Given the description of an element on the screen output the (x, y) to click on. 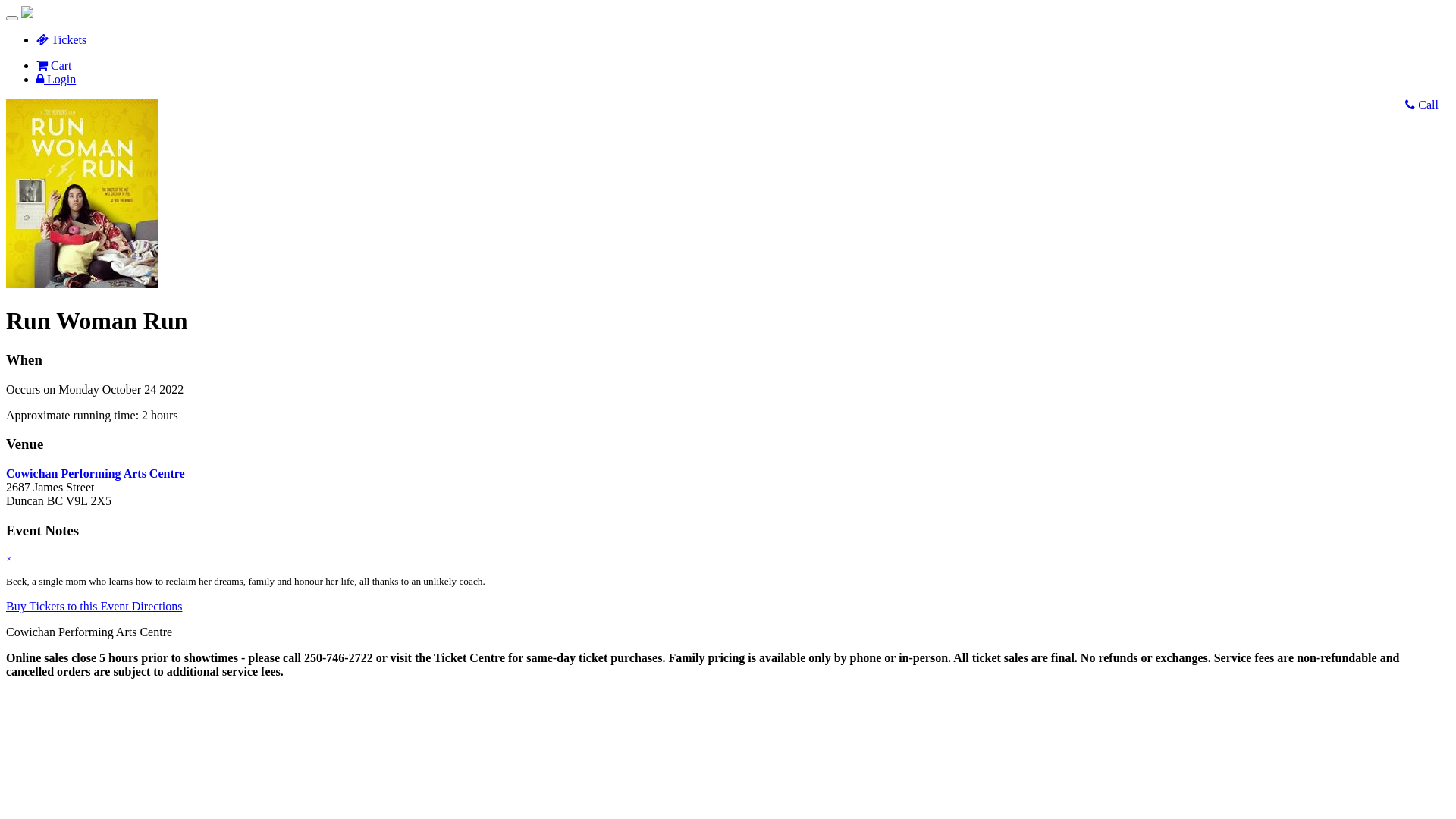
Buy Tickets to this Event Element type: text (68, 605)
Cowichan Performing Arts Centre Element type: text (95, 473)
Cart Element type: text (54, 65)
Call Element type: text (1421, 105)
Tickets Element type: text (61, 39)
Directions Element type: text (156, 605)
Login Element type: text (55, 78)
Toggle navigation Element type: text (12, 17)
